Given the description of an element on the screen output the (x, y) to click on. 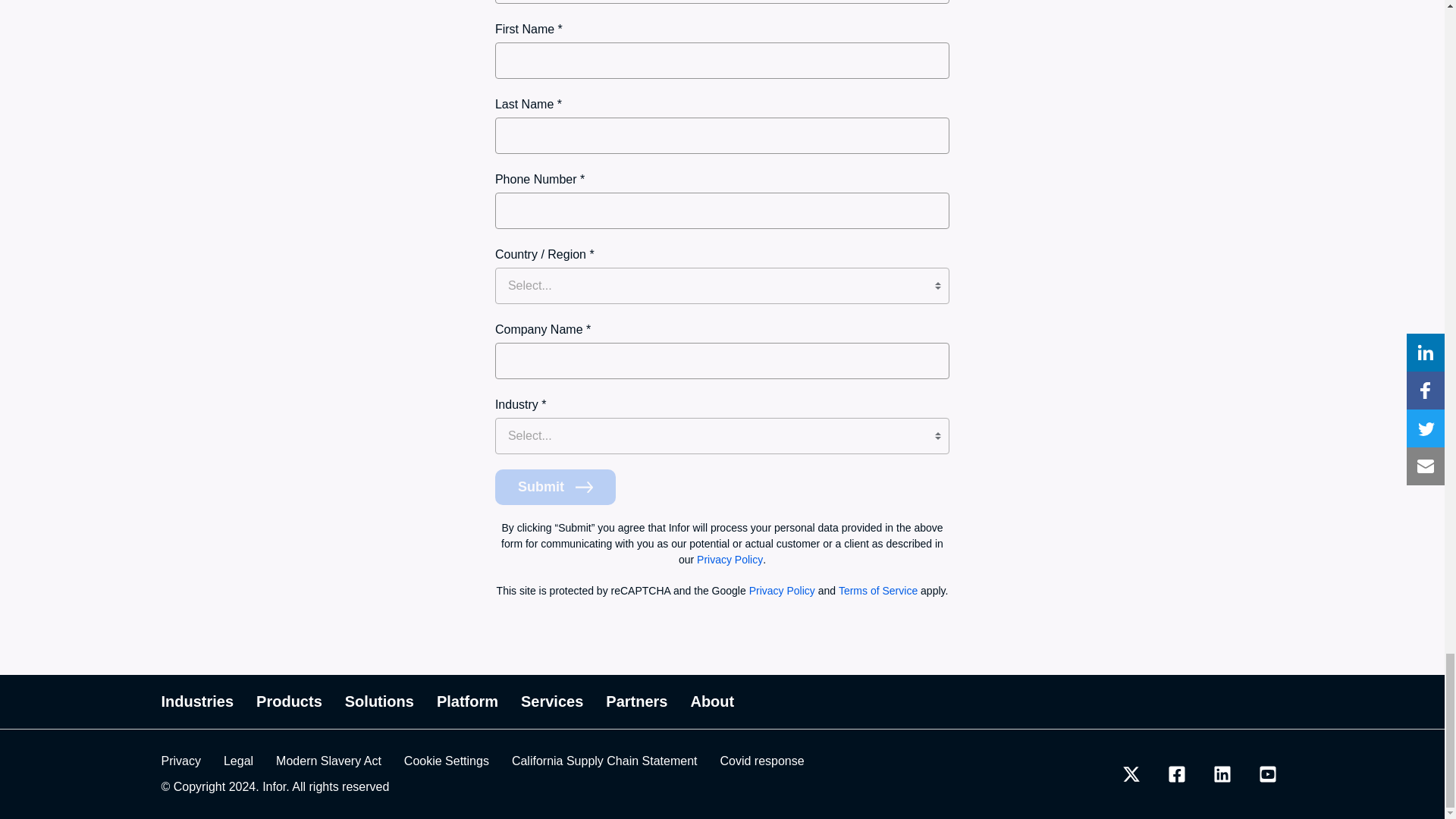
Link opens in new tab (1131, 774)
Link opens in new tab (1176, 774)
Link opens in new tab (328, 761)
